Given the description of an element on the screen output the (x, y) to click on. 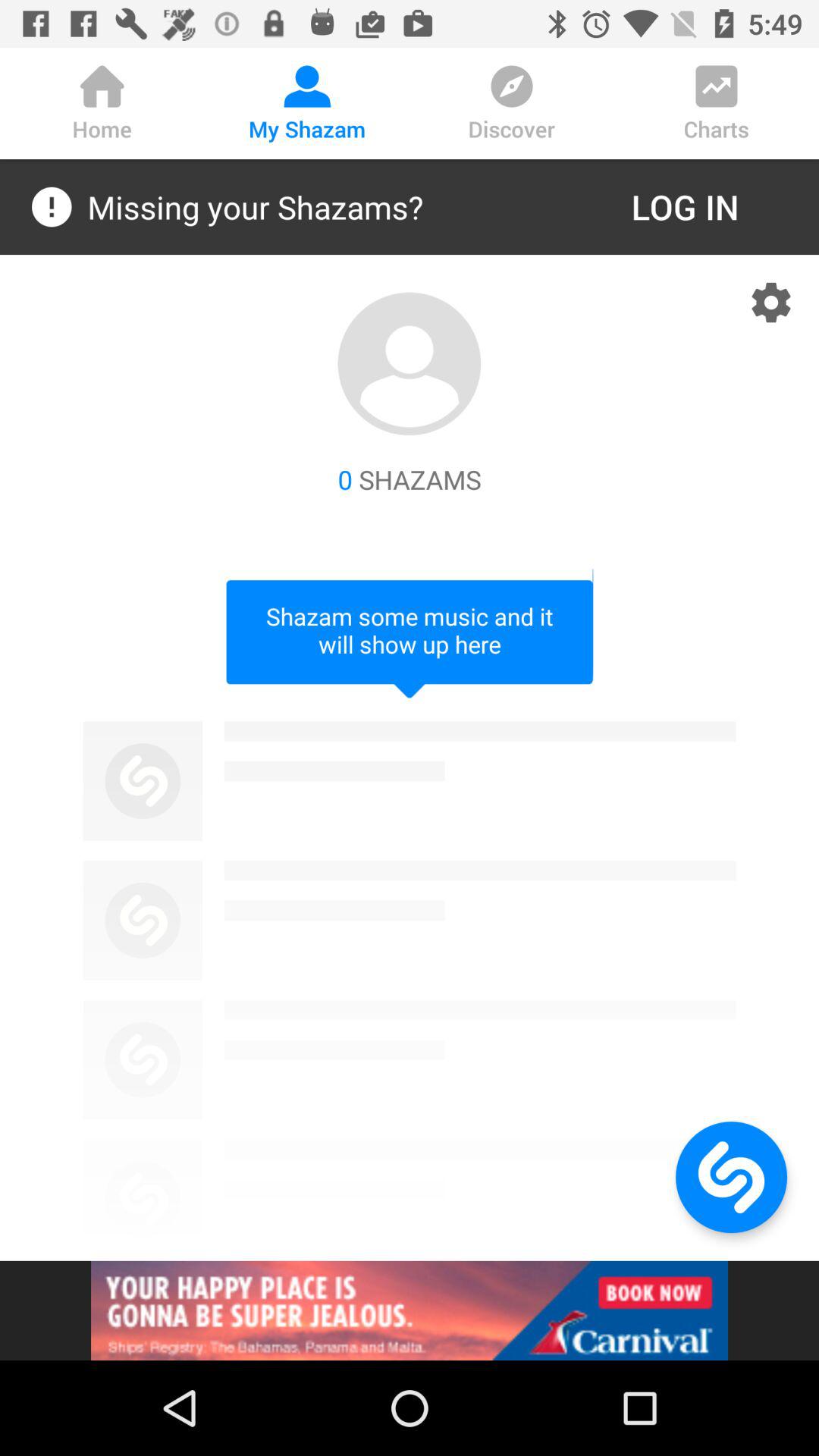
go to home page (731, 1177)
